Given the description of an element on the screen output the (x, y) to click on. 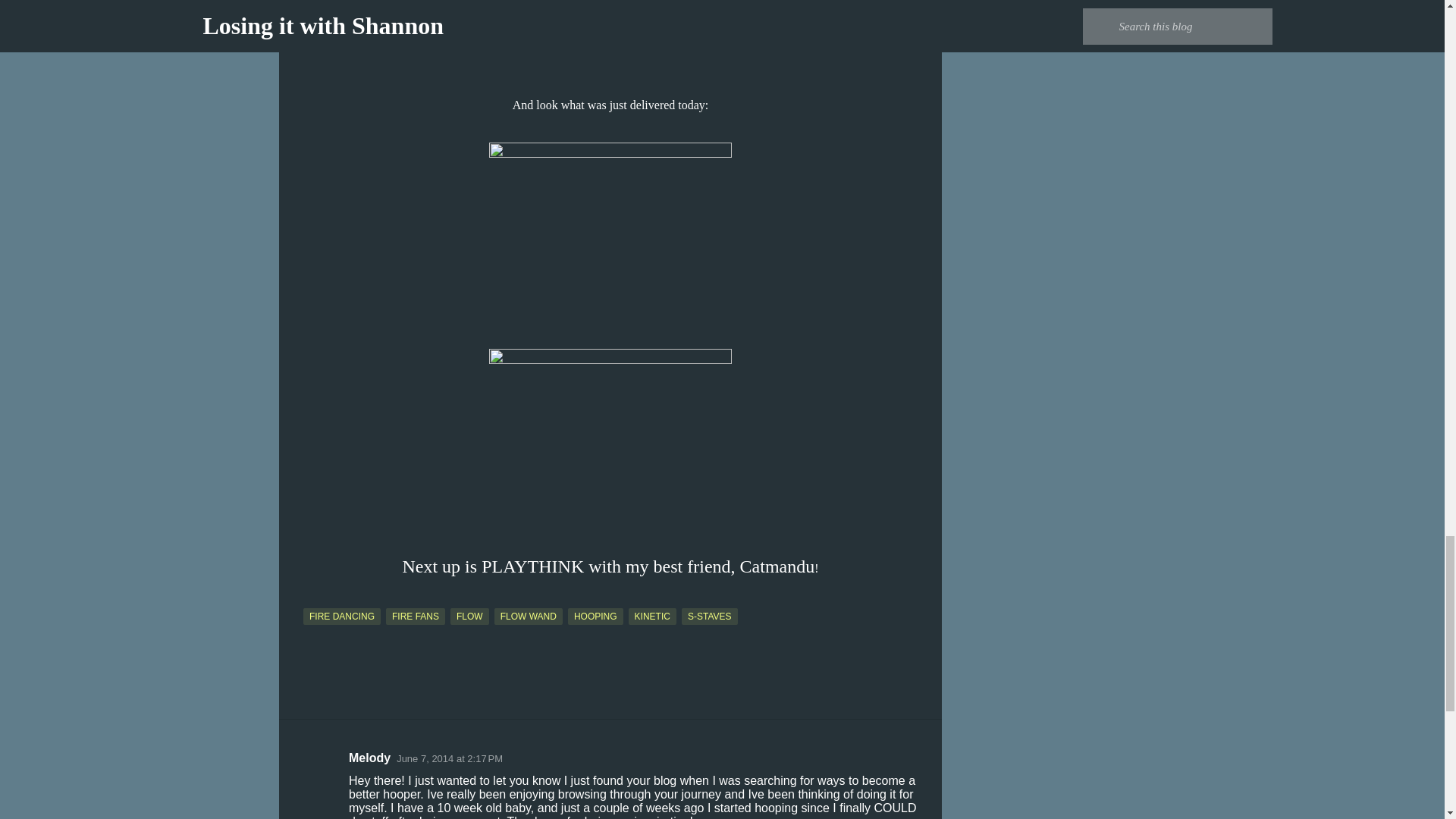
FLOW (469, 616)
HOOPING (595, 616)
FIRE FANS (415, 616)
Melody (369, 757)
FLOW WAND (528, 616)
S-STAVES (709, 616)
FIRE DANCING (341, 616)
KINETIC (652, 616)
